Given the description of an element on the screen output the (x, y) to click on. 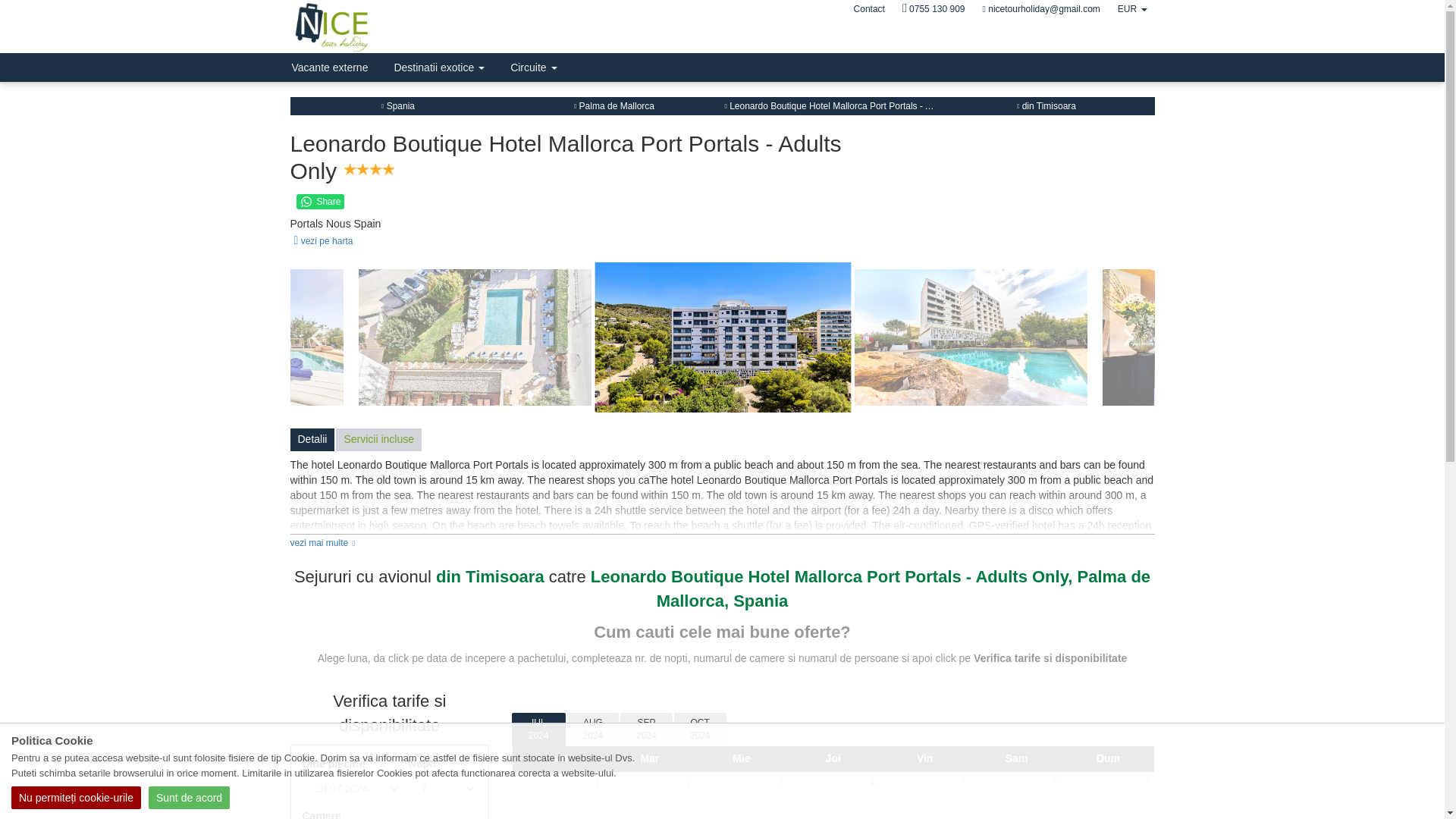
din Timisoara (1045, 105)
vezi pe harta (320, 240)
EUR (1131, 9)
Leonardo Boutique Hotel Mallorca Port Portals - Adults Only (848, 105)
Destinatii exotice (438, 67)
Share (320, 201)
Contact (868, 9)
Previous (314, 337)
Quick-Sell Logo (367, 27)
Palma de Mallorca (613, 105)
Circuite (533, 67)
Spania (397, 105)
0755 130 909 (933, 9)
